Given the description of an element on the screen output the (x, y) to click on. 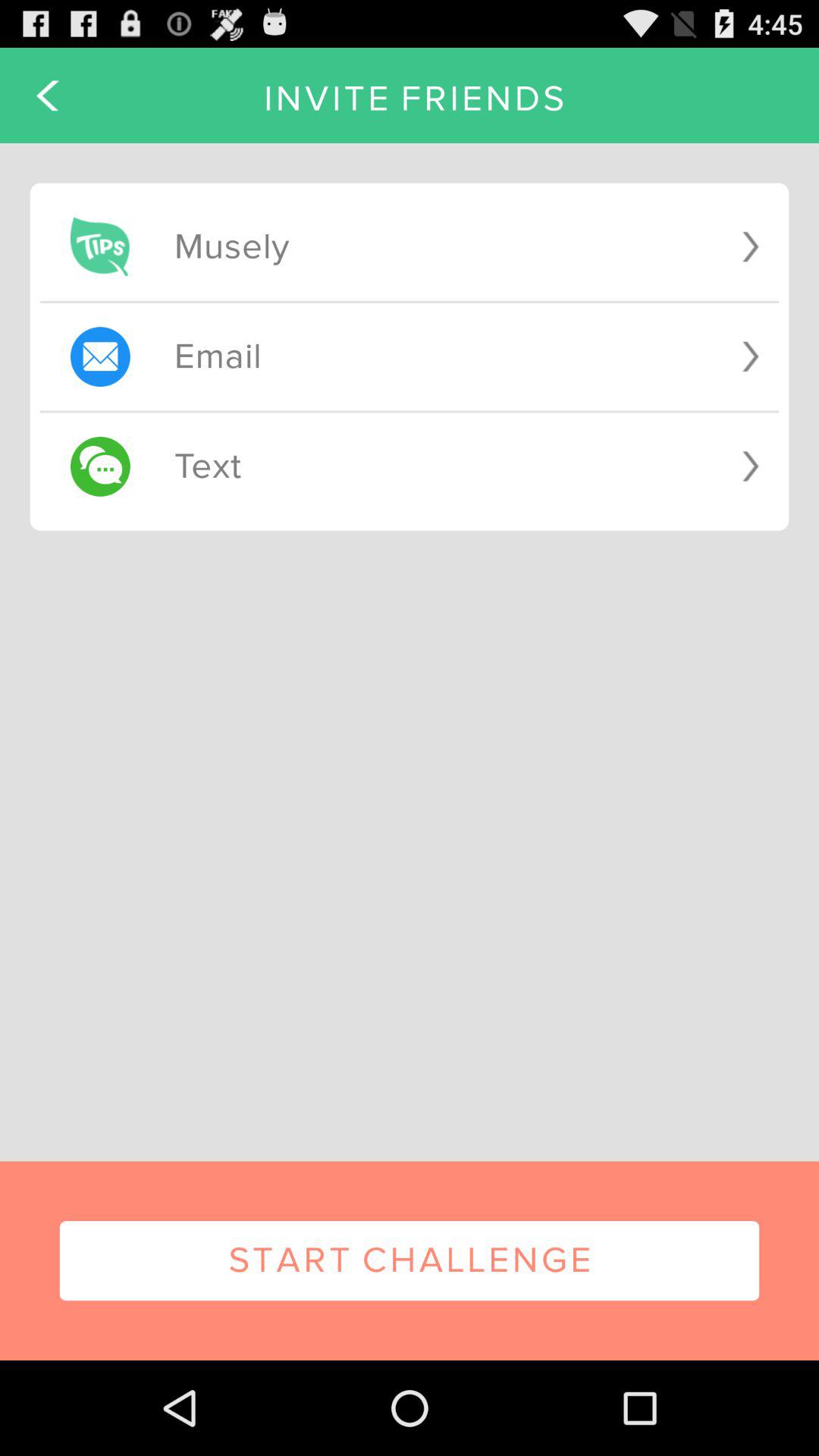
launch the start challenge item (409, 1260)
